Given the description of an element on the screen output the (x, y) to click on. 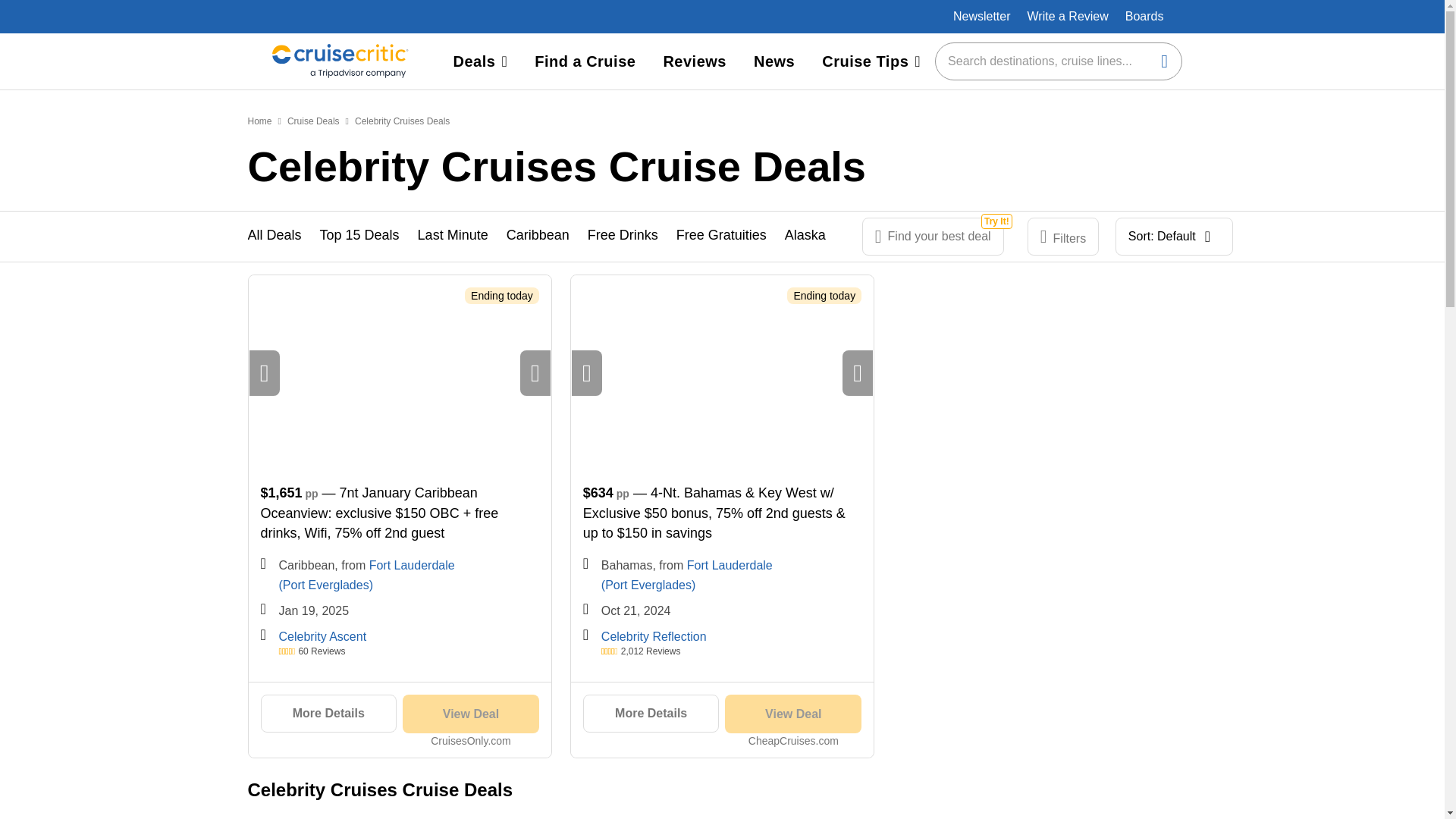
Find a Cruise (585, 61)
Celebrity Ascent (322, 635)
Free Gratuities (722, 236)
More Details (651, 713)
Boards (1144, 16)
Write a Review (1066, 16)
View Deal (793, 713)
Celebrity Reflection (653, 635)
Home (258, 120)
More Details (328, 713)
Find your best deal (932, 236)
Top 15 Deals (359, 236)
Deals (480, 61)
Newsletter (981, 16)
Cruise Deals (312, 120)
